Given the description of an element on the screen output the (x, y) to click on. 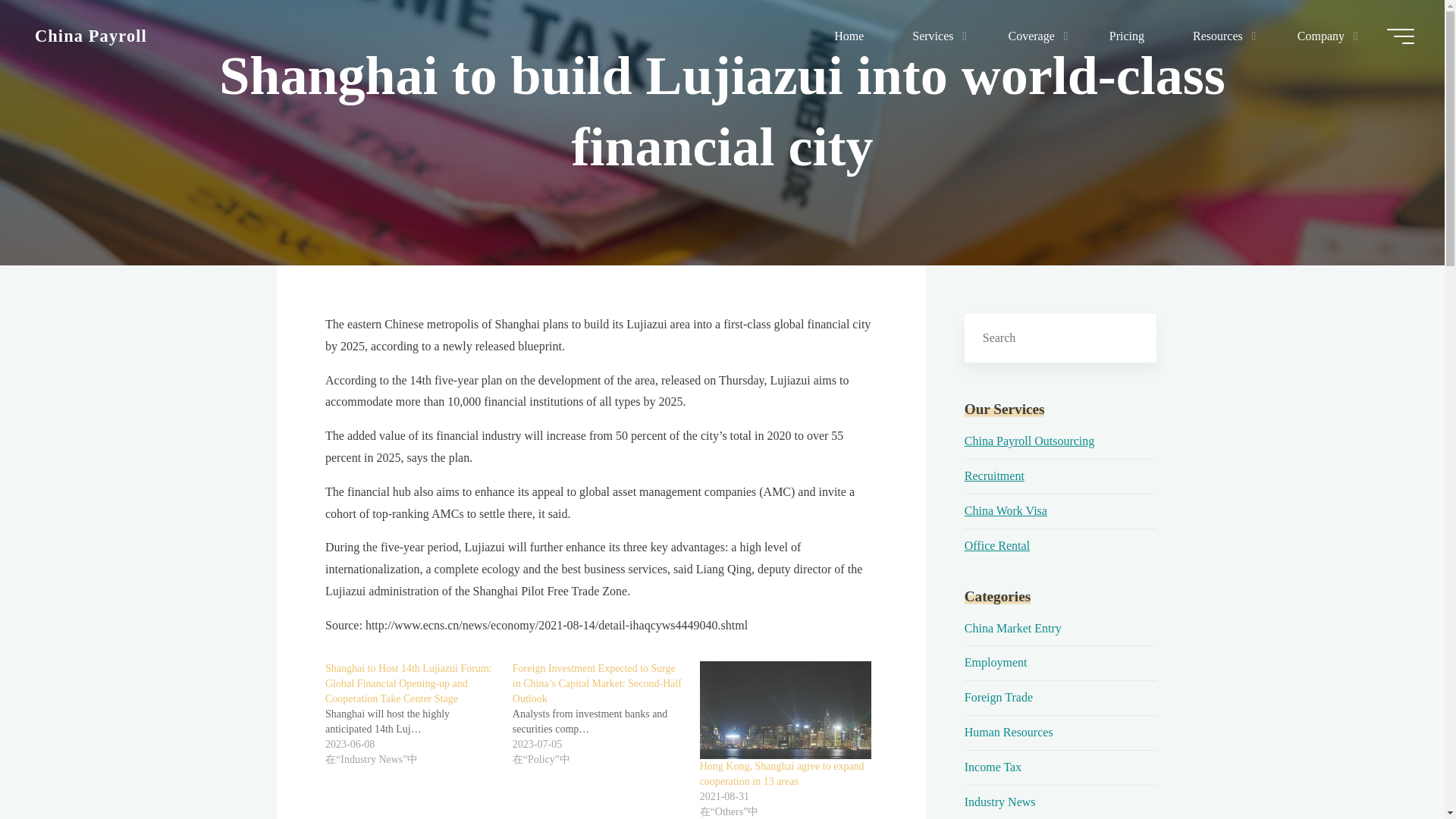
Services (936, 35)
Home (848, 35)
Hong Kong, Shanghai agree to expand cooperation in 13 areas (780, 773)
China Payroll (90, 35)
Hong Kong, Shanghai agree to expand cooperation in 13 areas (784, 710)
Read more (721, 170)
